Given the description of an element on the screen output the (x, y) to click on. 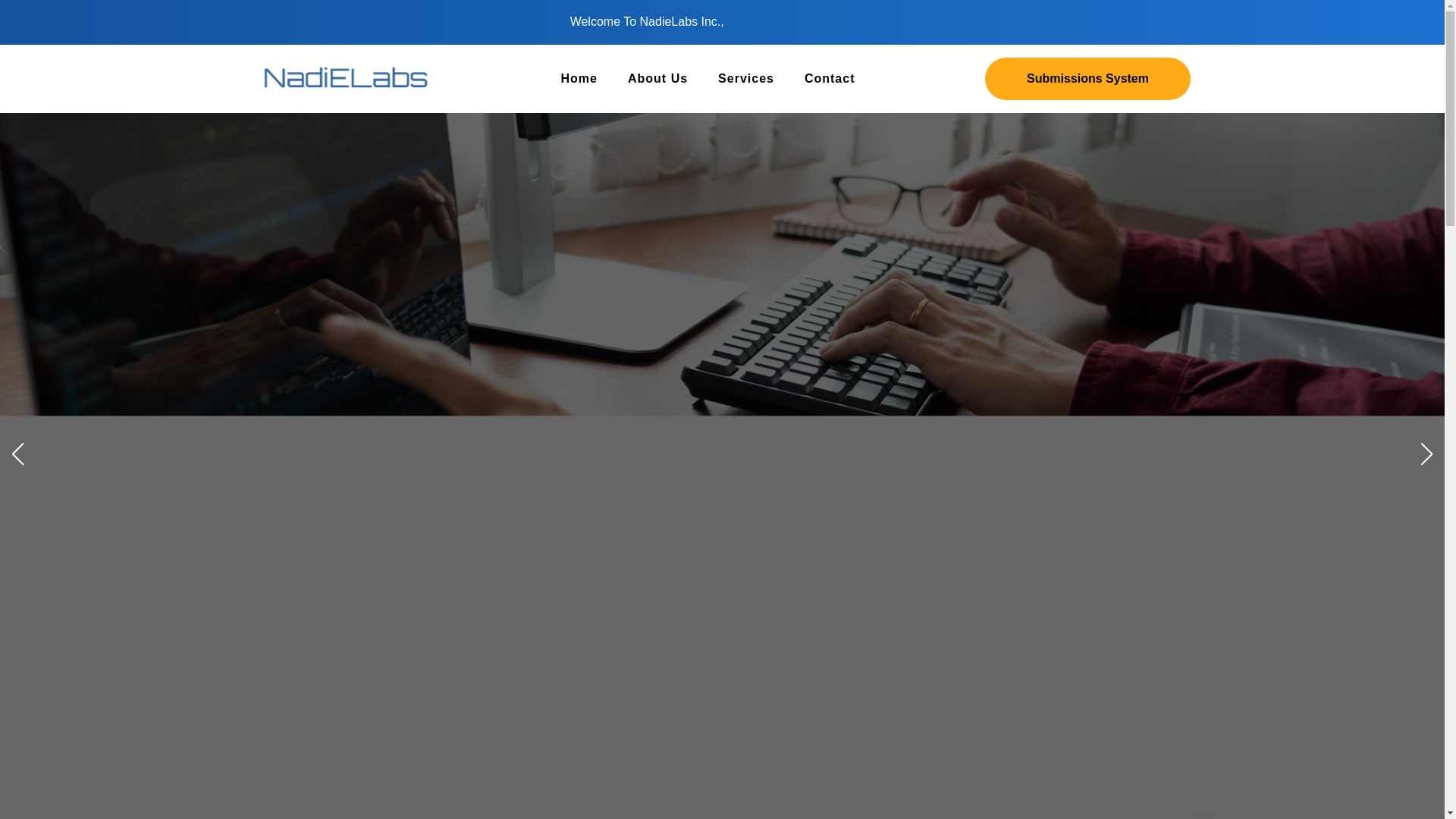
Submissions System (1088, 78)
